Given the description of an element on the screen output the (x, y) to click on. 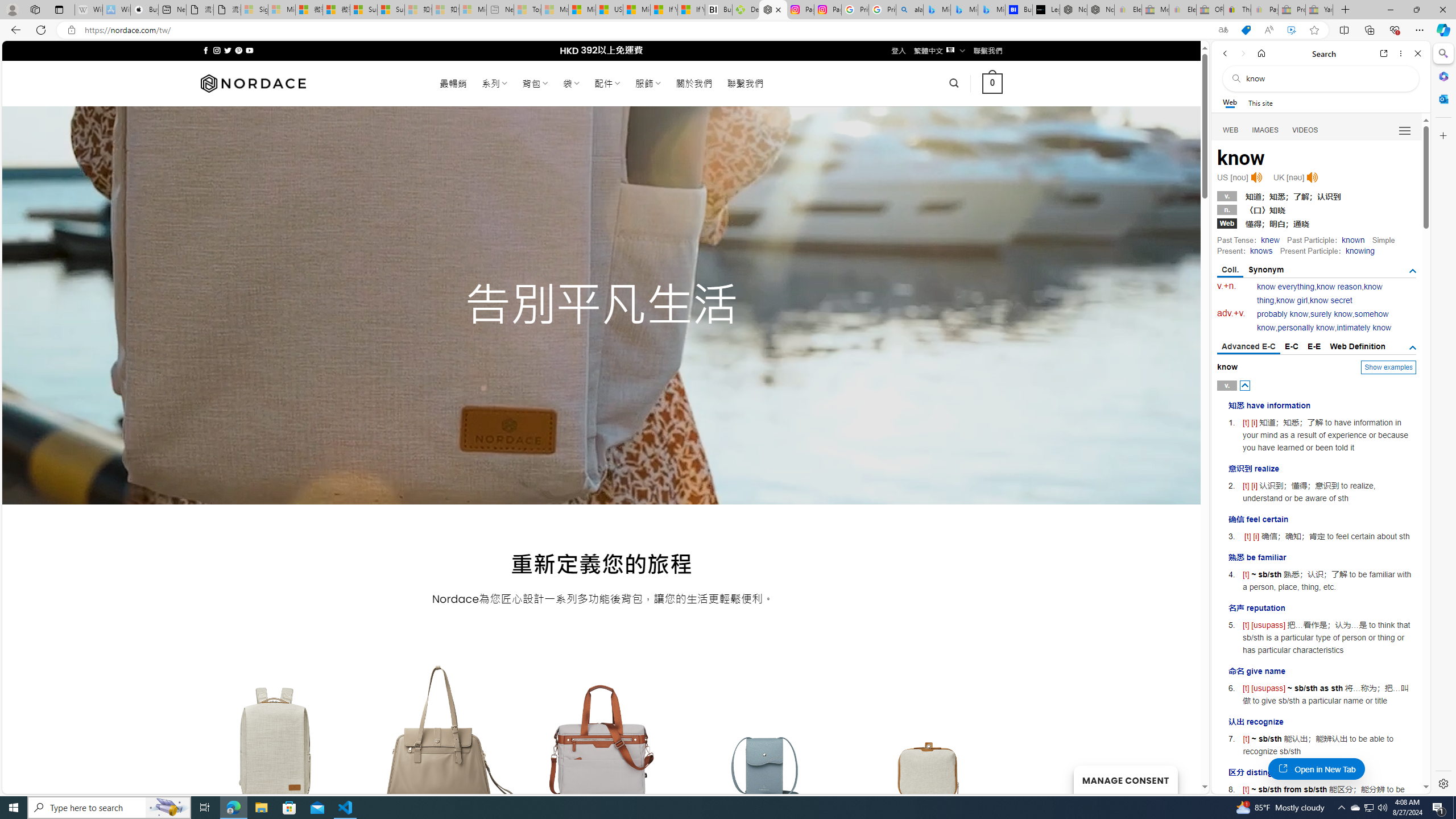
AutomationID: posbtn_0 (1245, 385)
know girl (1291, 300)
know secret (1330, 300)
knowing (1359, 250)
WEB (1231, 130)
Search the web (1326, 78)
